Given the description of an element on the screen output the (x, y) to click on. 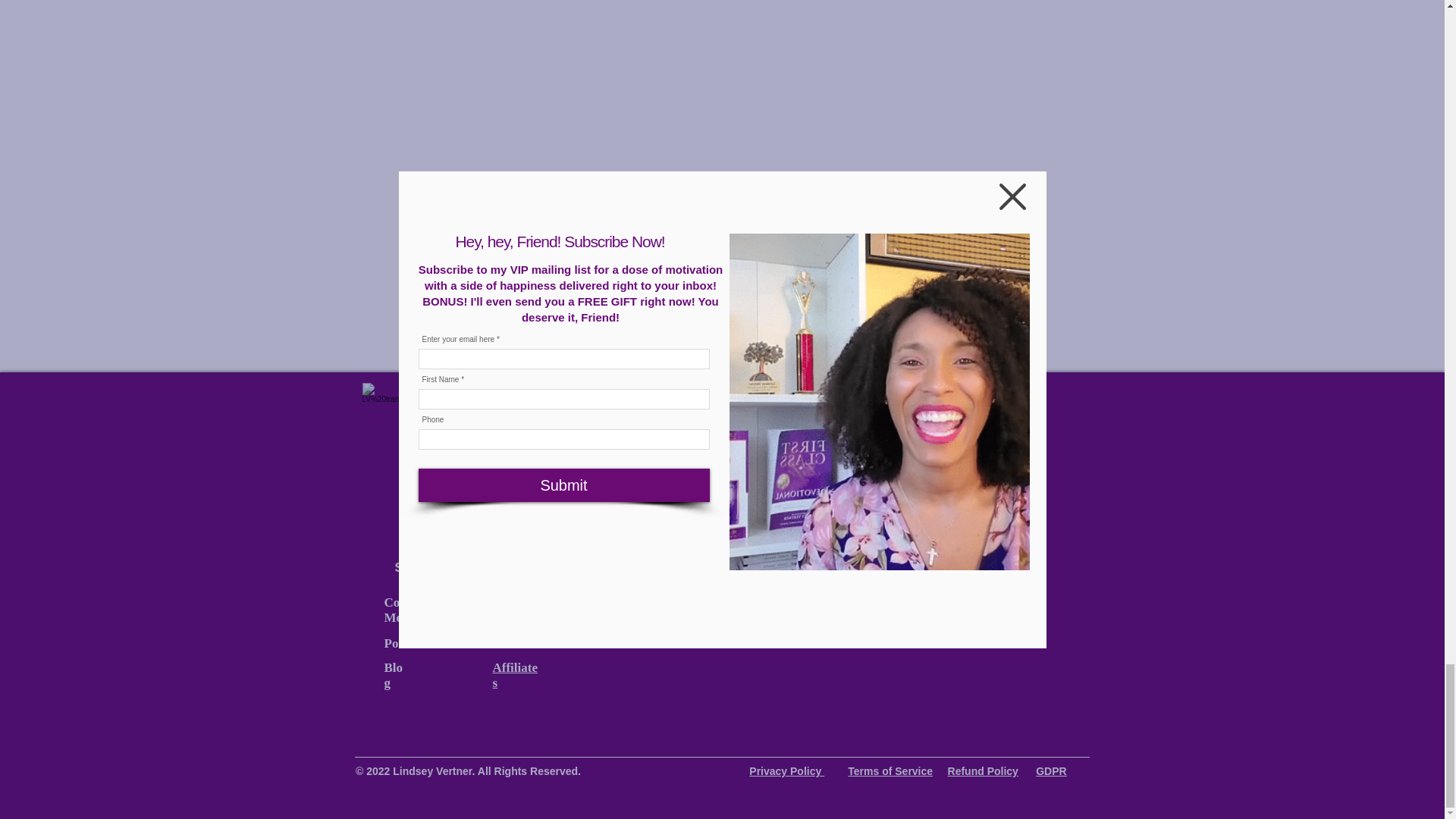
Subscribe Now to the lindsey vertner newsletter (848, 616)
